Given the description of an element on the screen output the (x, y) to click on. 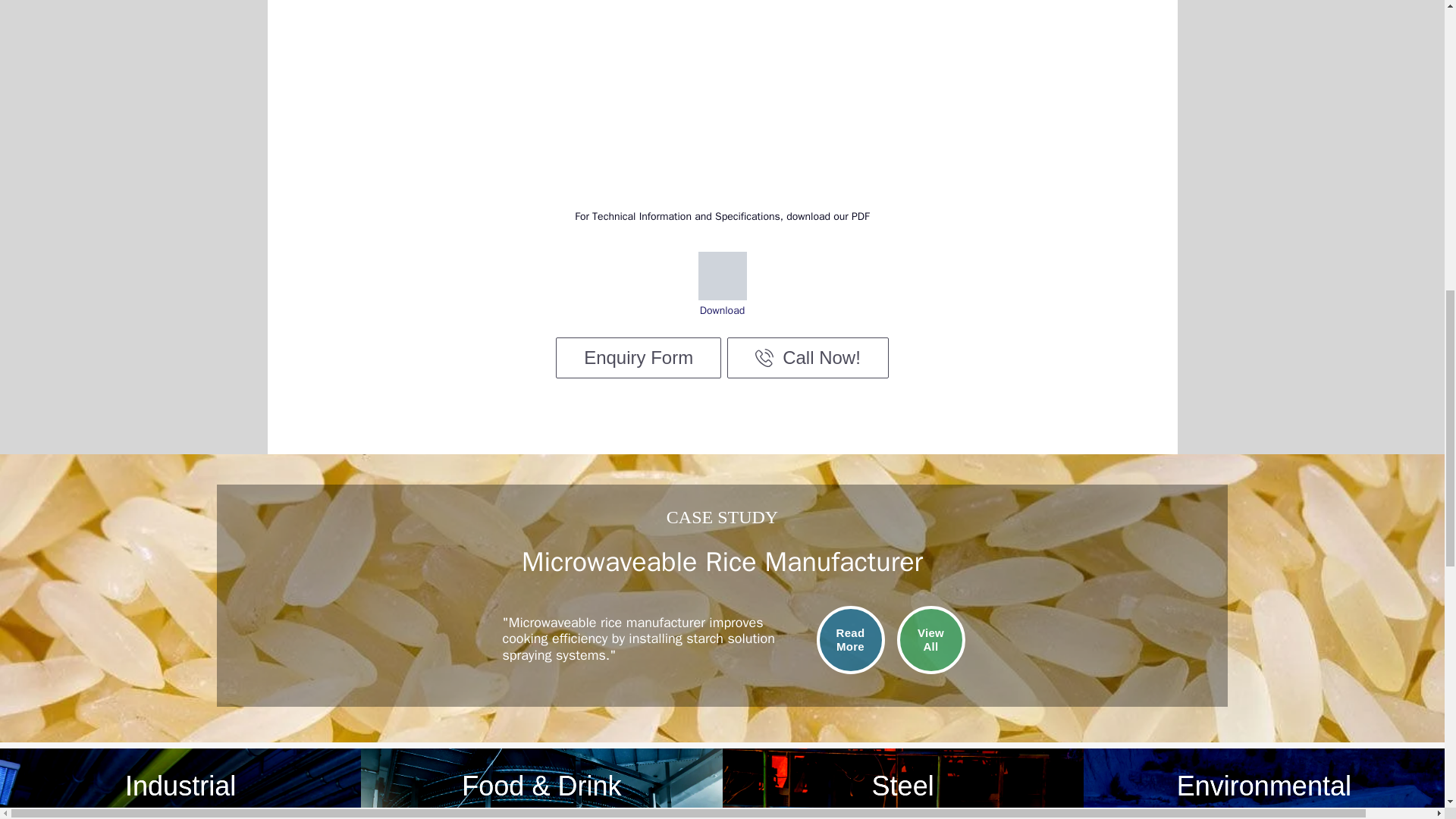
pdf-logo (721, 275)
